Given the description of an element on the screen output the (x, y) to click on. 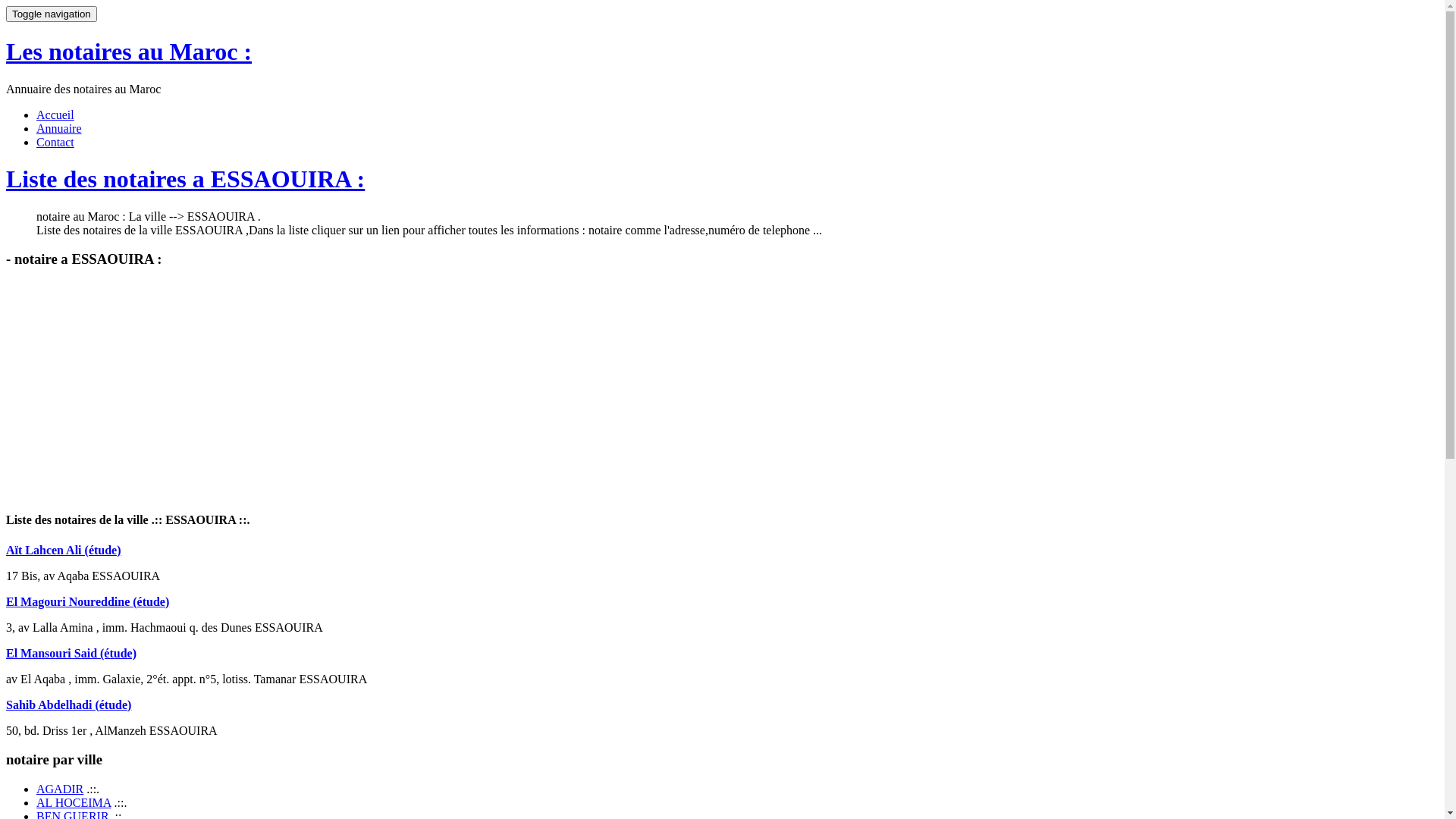
Contact Element type: text (55, 141)
Annuaire Element type: text (58, 128)
Advertisement Element type: hover (133, 388)
AL HOCEIMA Element type: text (73, 802)
Les notaires au Maroc : Element type: text (128, 51)
Toggle navigation Element type: text (51, 13)
AGADIR Element type: text (59, 788)
Accueil Element type: text (55, 114)
Liste des notaires a ESSAOUIRA : Element type: text (185, 178)
